Given the description of an element on the screen output the (x, y) to click on. 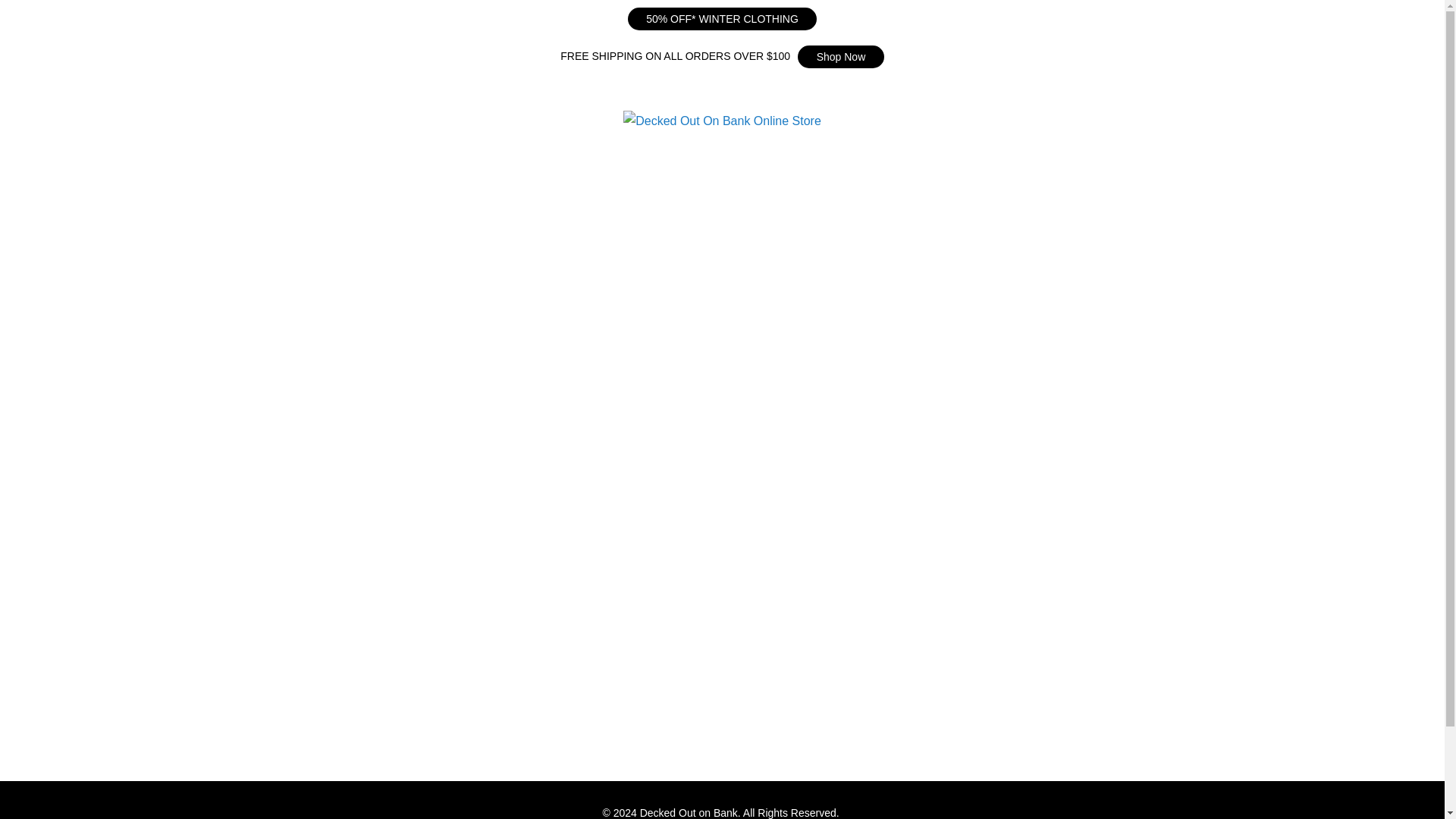
Shop Now (840, 56)
